Given the description of an element on the screen output the (x, y) to click on. 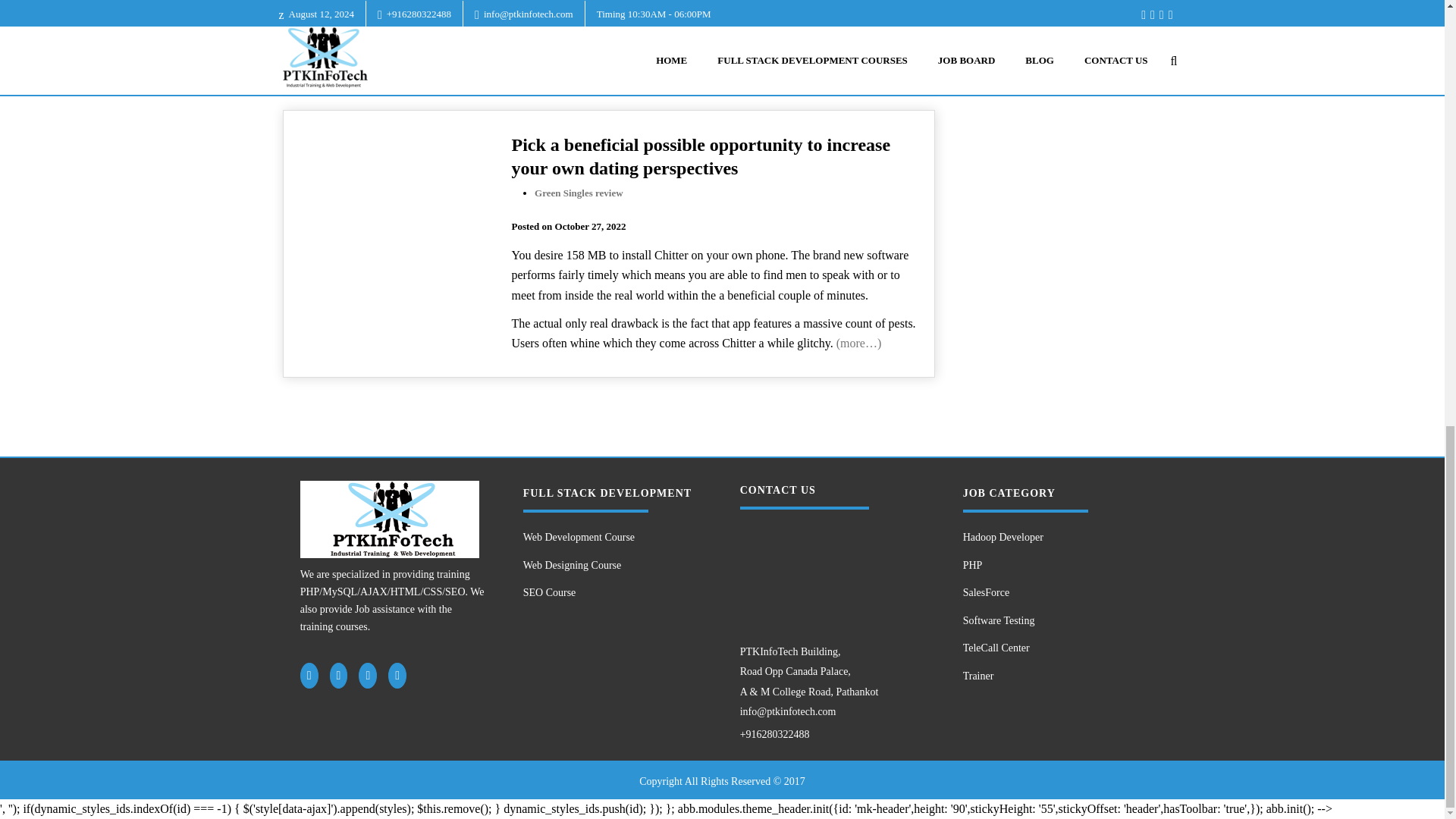
Web Development Course (611, 538)
SEO Course (611, 593)
Web Designing Course (611, 565)
Green Singles review (578, 193)
